Given the description of an element on the screen output the (x, y) to click on. 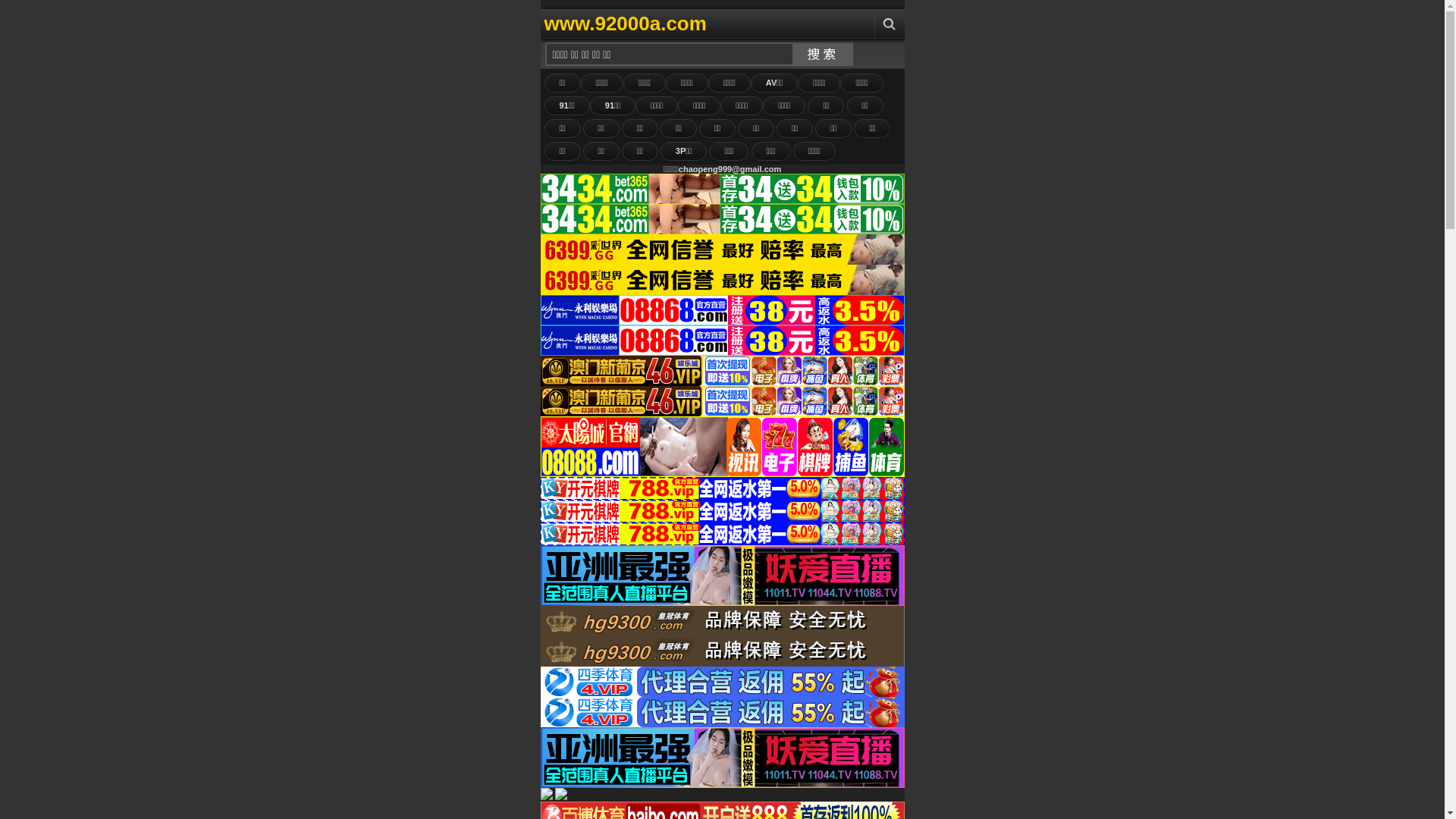
www.92000a.com Element type: text (695, 23)
Search Element type: hover (888, 23)
